Given the description of an element on the screen output the (x, y) to click on. 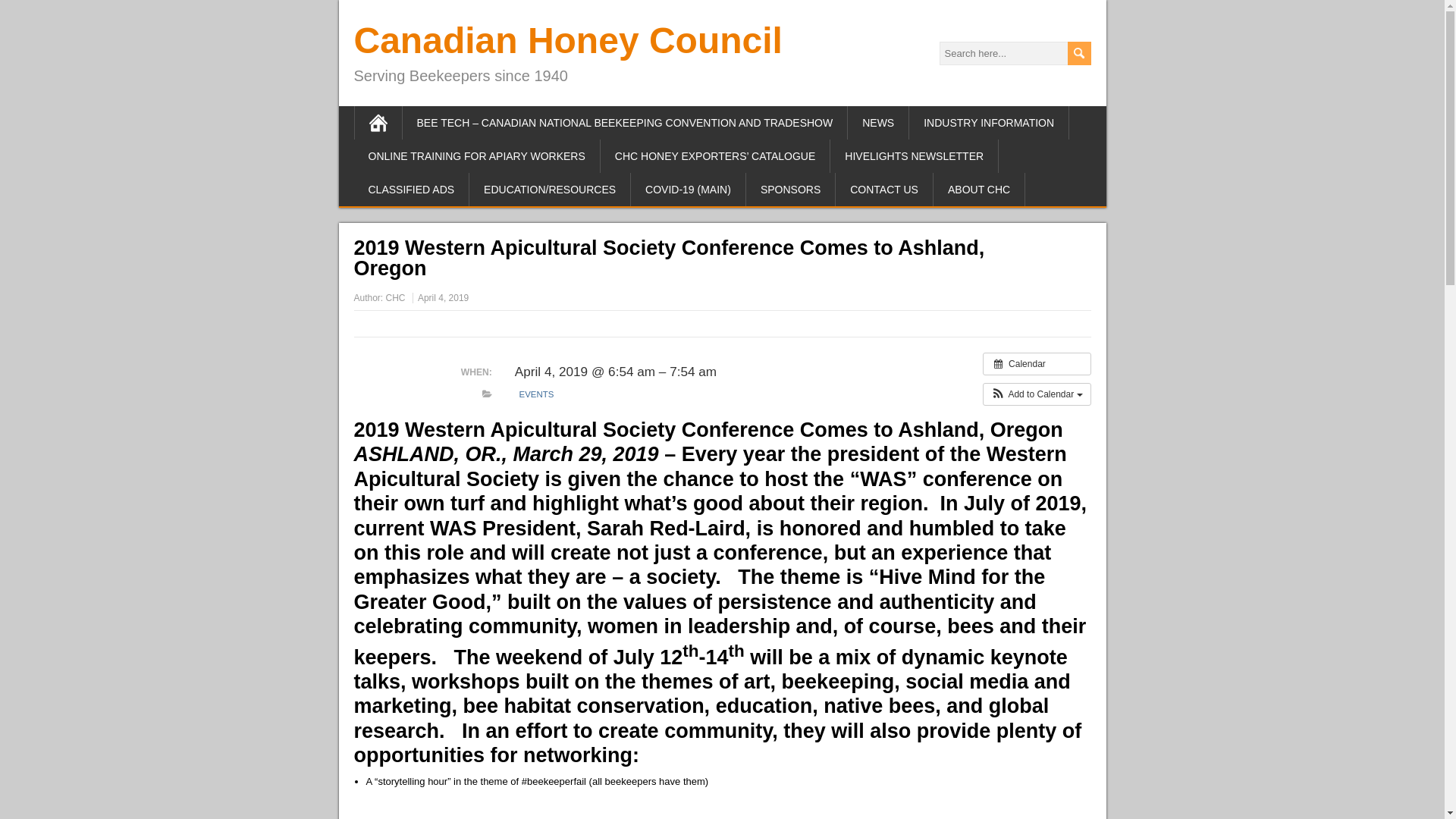
ABOUT CHC (979, 189)
CHC (395, 297)
Posts by CHC (395, 297)
HIVELIGHTS NEWSLETTER (913, 155)
SPONSORS (790, 189)
CLASSIFIED ADS (410, 189)
INDUSTRY INFORMATION (988, 122)
View all events (1036, 363)
NEWS (877, 122)
ONLINE TRAINING FOR APIARY WORKERS (476, 155)
